Given the description of an element on the screen output the (x, y) to click on. 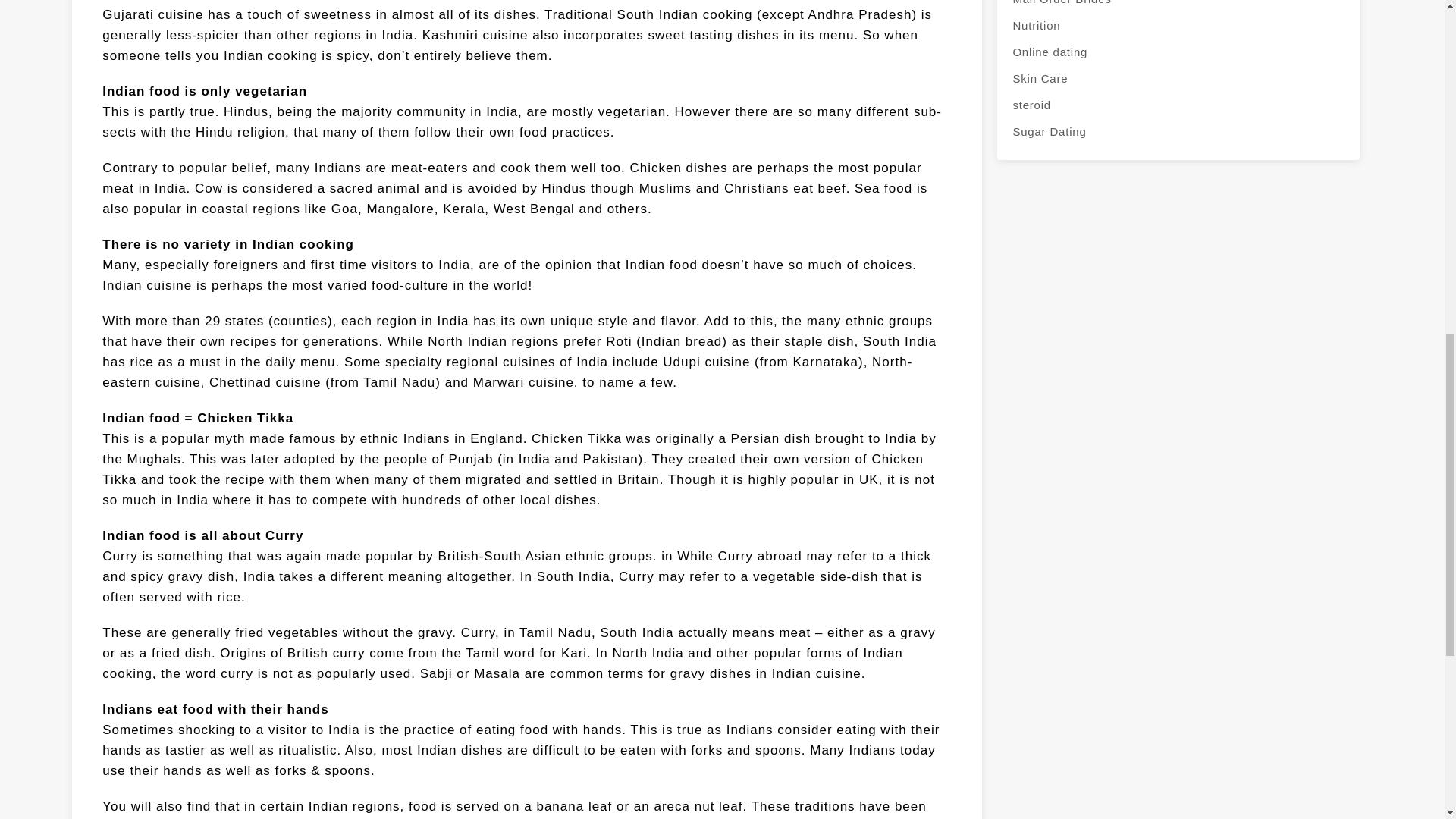
steroid (1177, 104)
Nutrition (1177, 25)
Sugar Dating (1177, 130)
Mail Order Brides (1177, 6)
Online dating (1177, 51)
Skin Care (1177, 78)
